Given the description of an element on the screen output the (x, y) to click on. 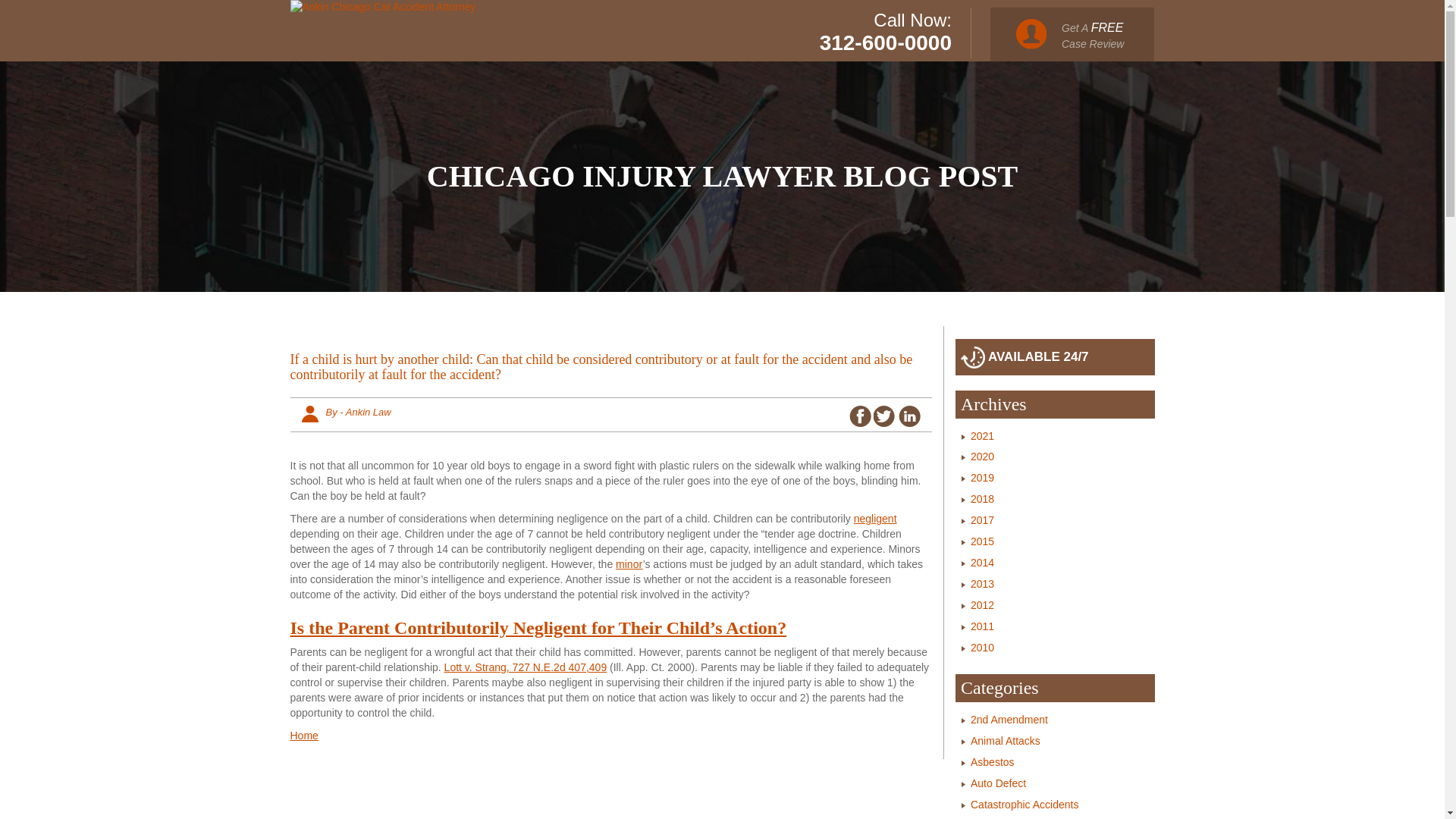
minor (629, 563)
2021 (982, 435)
negligent (874, 518)
312-600-0000 (885, 42)
Home (303, 735)
2020 (982, 456)
Lott v. Strang, 727 N.E.2d 407,409 (525, 666)
